Given the description of an element on the screen output the (x, y) to click on. 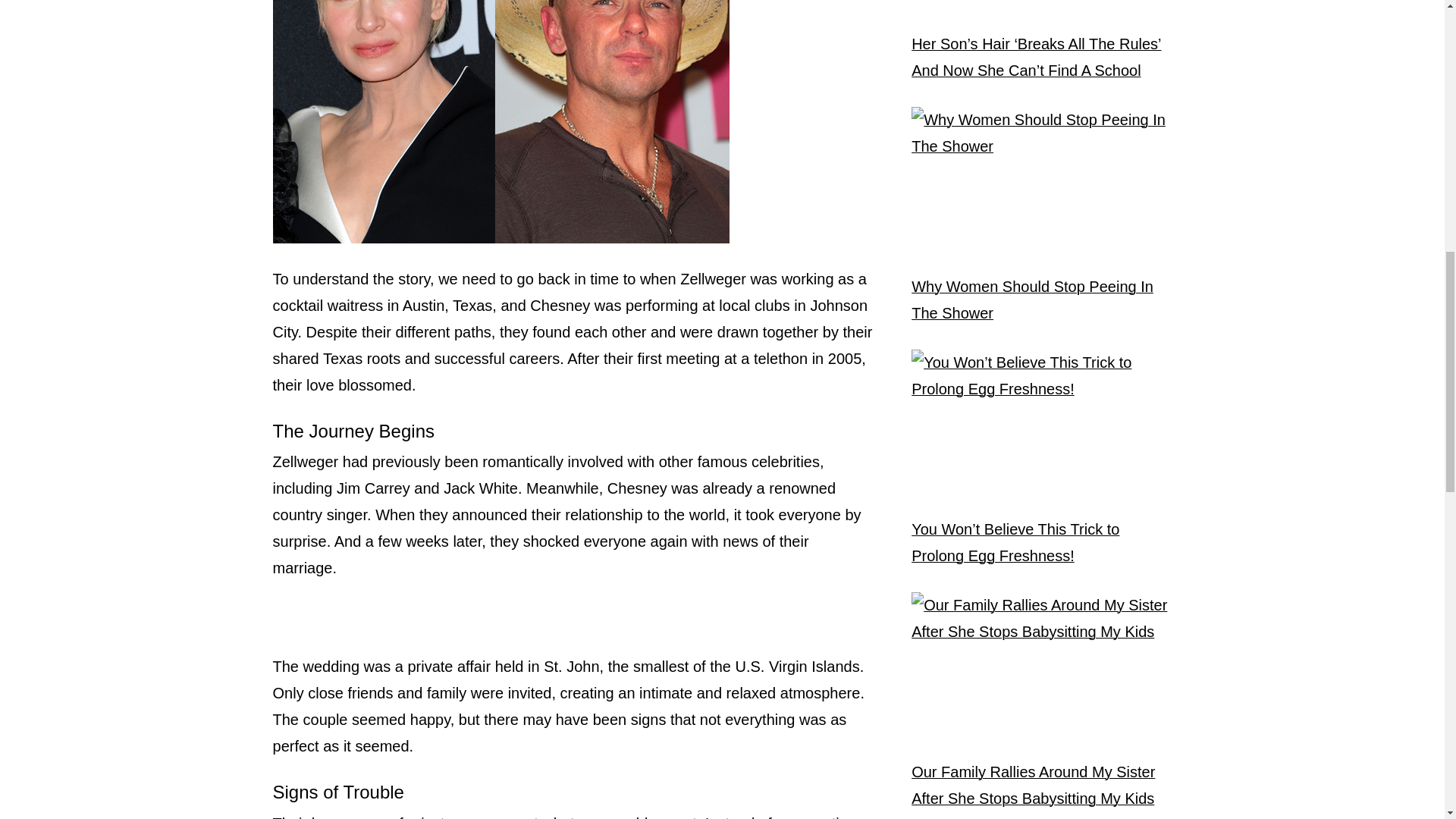
Why Women Should Stop Peeing In The Shower (1040, 299)
